Given the description of an element on the screen output the (x, y) to click on. 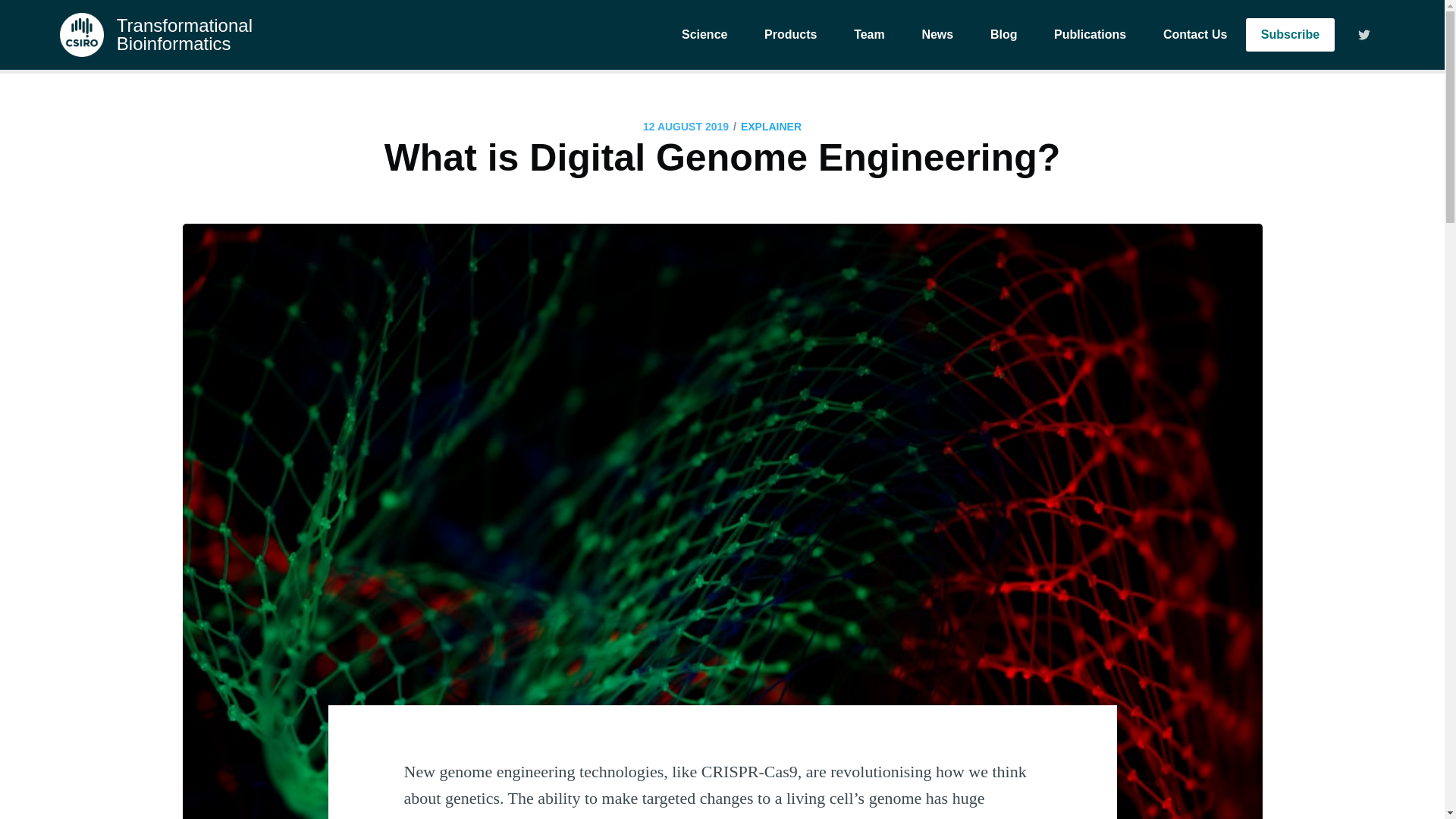
Subscribe (1290, 34)
Twitter (1360, 34)
Blog (1003, 34)
Contact Us (1194, 34)
Team (868, 34)
News (936, 34)
Products (790, 34)
EXPLAINER (771, 126)
Publications (1090, 34)
Science (704, 34)
Transformational Bioinformatics (155, 34)
